Given the description of an element on the screen output the (x, y) to click on. 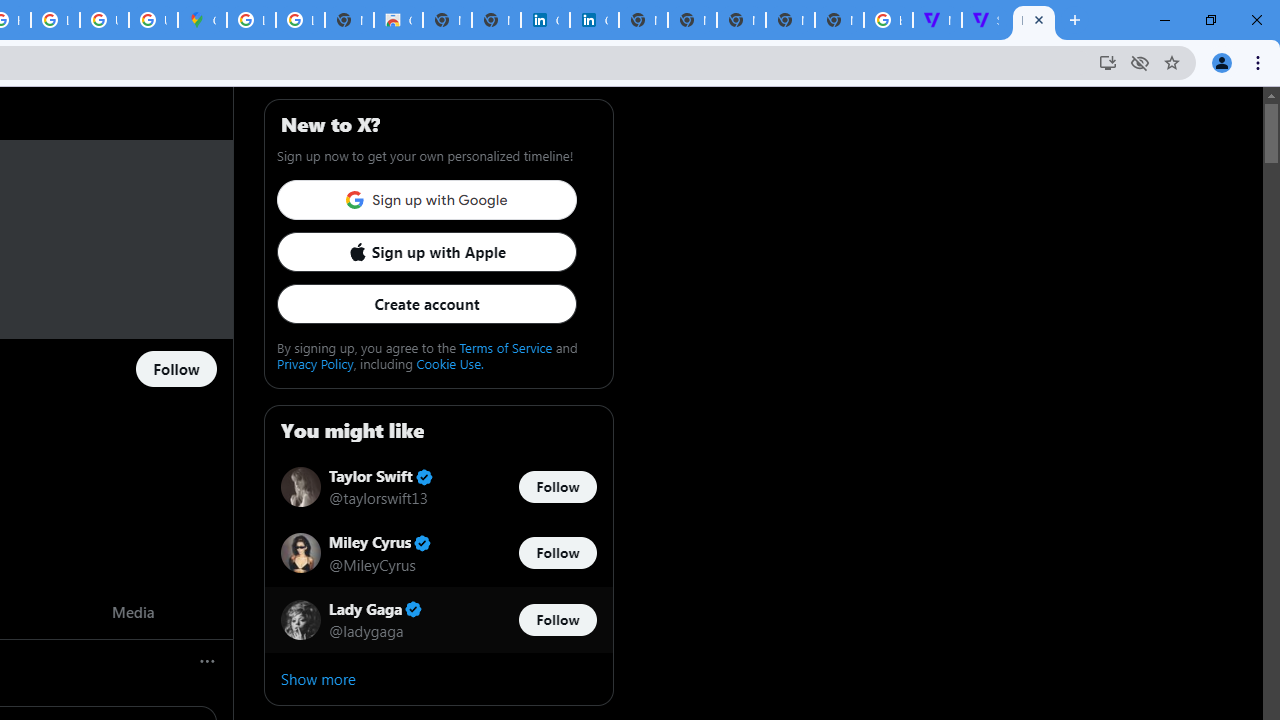
Restore (1210, 20)
Install X (1107, 62)
Create account (426, 303)
Cookie Use. (449, 363)
Terms of Service (505, 347)
Bookmark this tab (1171, 62)
@taylorswift13 (377, 498)
New Tab (839, 20)
Follow @BrunoMars (176, 369)
@ladygaga (366, 629)
You (1221, 62)
Lady Gaga Verified account (375, 609)
Chrome Web Store (398, 20)
